Given the description of an element on the screen output the (x, y) to click on. 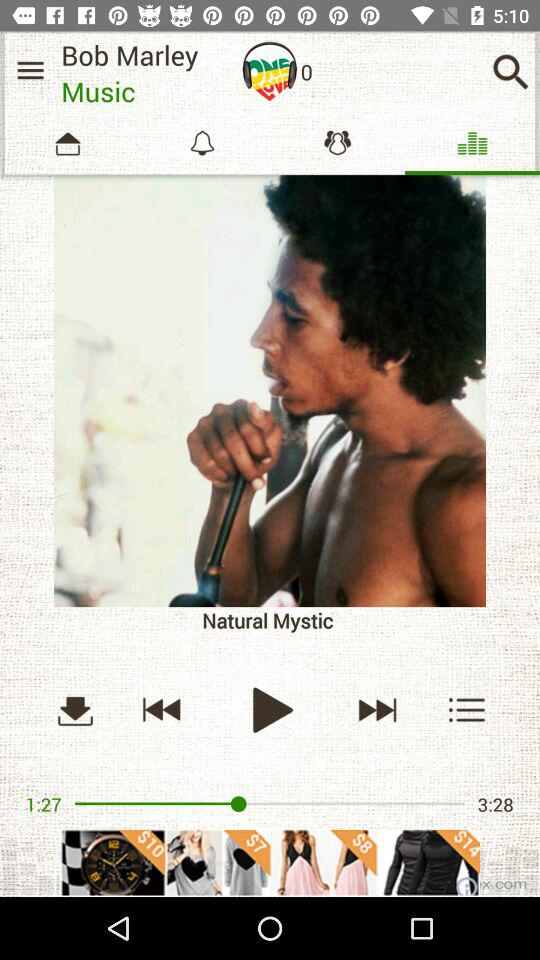
click for options (467, 709)
